Given the description of an element on the screen output the (x, y) to click on. 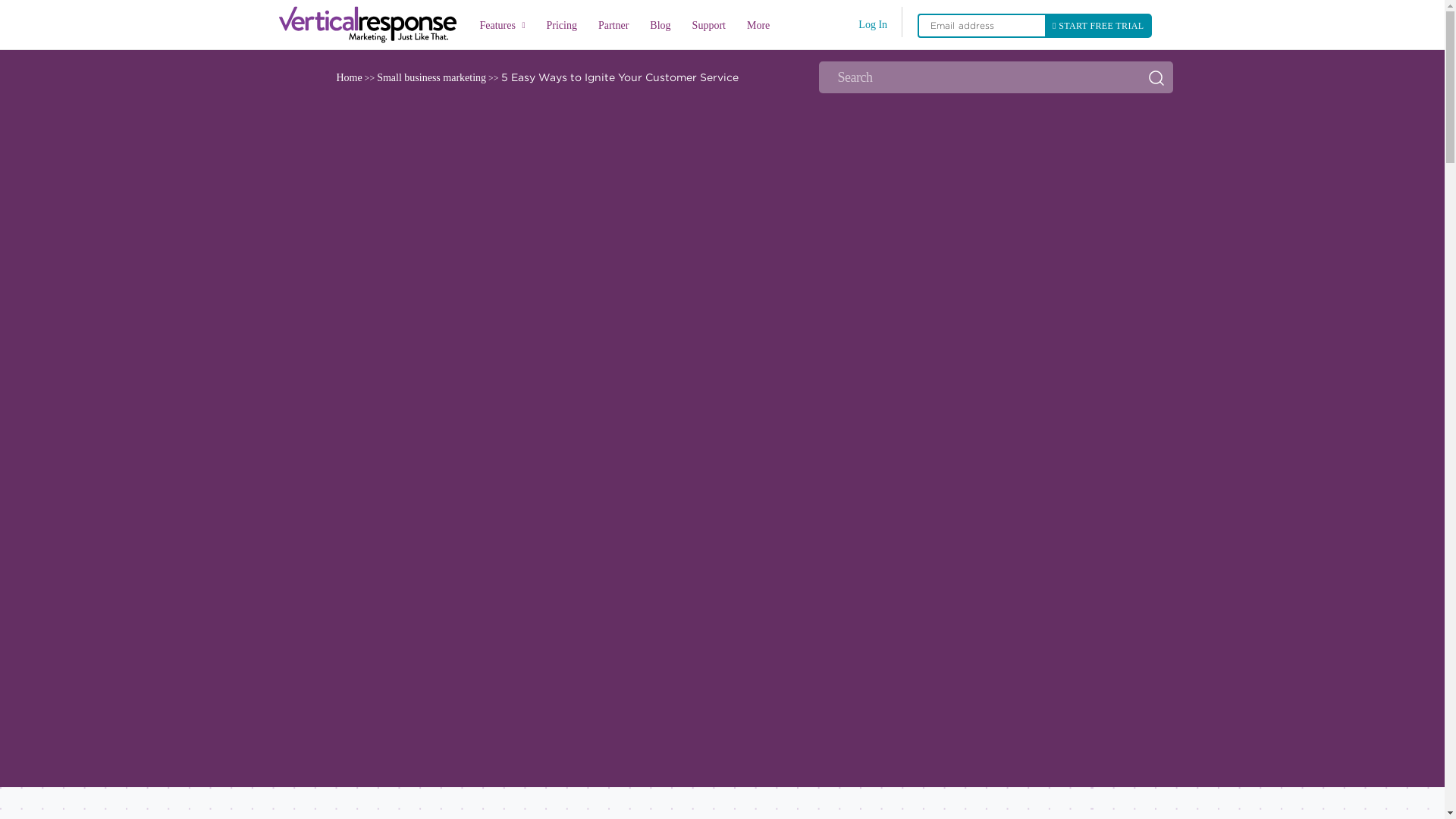
Support (708, 27)
Blog (660, 27)
Features (501, 24)
Small business marketing (430, 77)
Home (372, 24)
Home (348, 77)
Log In (872, 24)
More (758, 27)
Log In (872, 24)
Partner (613, 27)
